Given the description of an element on the screen output the (x, y) to click on. 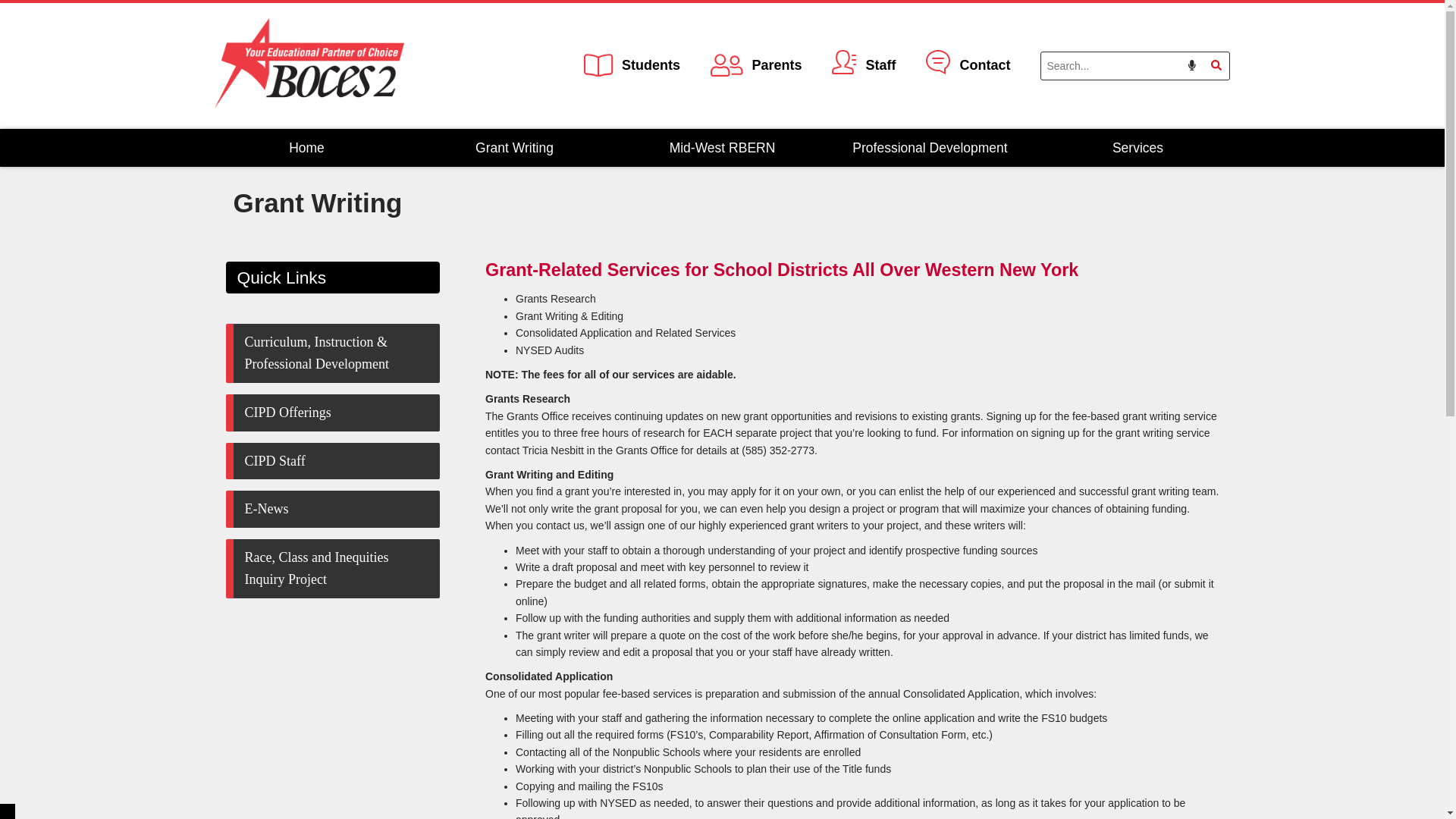
Students (631, 65)
Services (1137, 147)
Contact (968, 65)
Grant Writing (514, 147)
Staff (863, 65)
Home (306, 147)
Mid-West RBERN (722, 147)
Parents (756, 65)
Professional Development (930, 147)
